Given the description of an element on the screen output the (x, y) to click on. 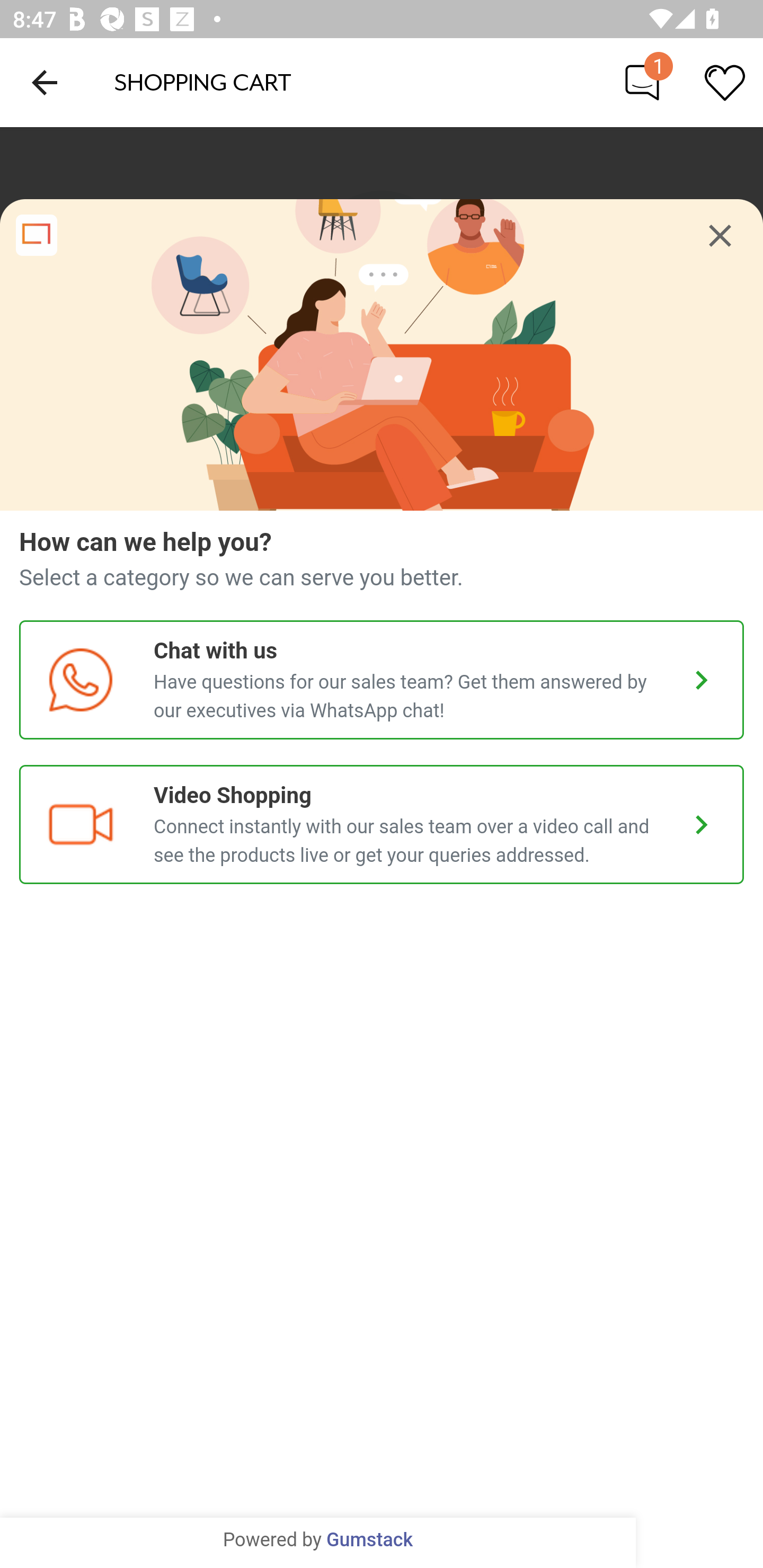
Navigate up (44, 82)
Chat (641, 81)
Wishlist (724, 81)
clear (720, 235)
Gumstack (369, 1540)
